Given the description of an element on the screen output the (x, y) to click on. 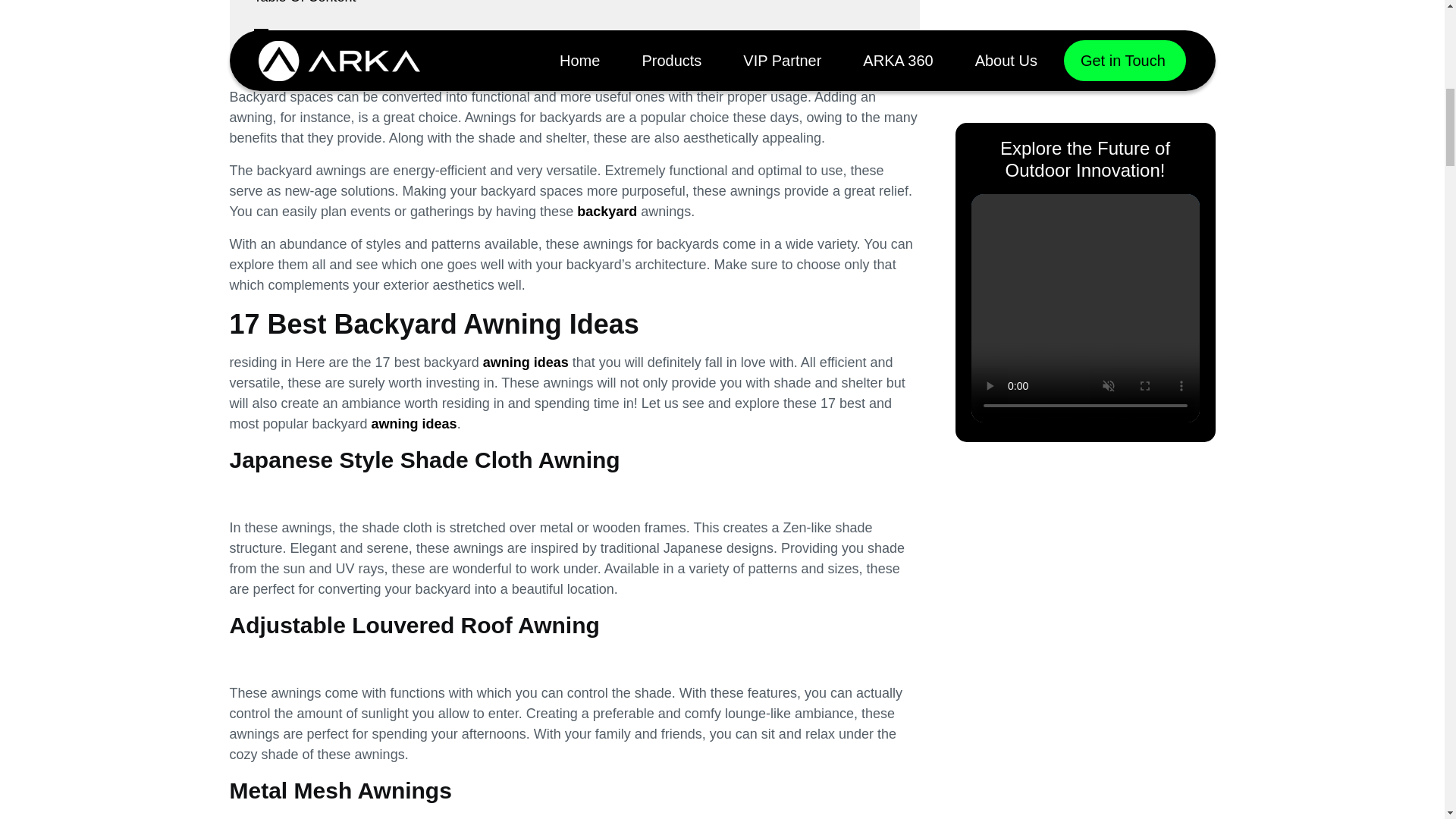
awning ideas (524, 362)
awning ideas (414, 423)
backyard (608, 211)
